Given the description of an element on the screen output the (x, y) to click on. 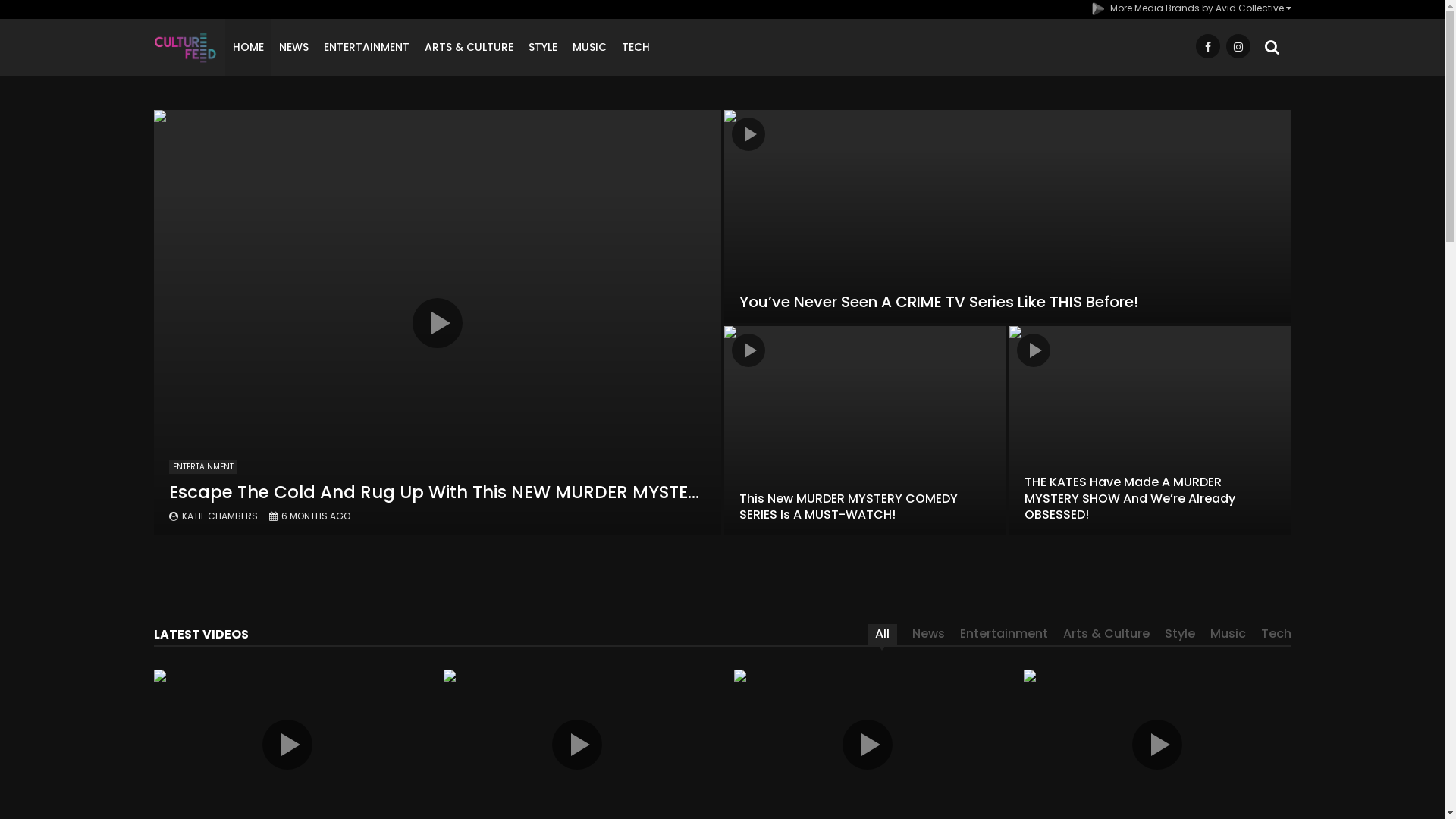
Search Element type: text (1287, 47)
icon Element type: text (1032, 350)
Facebook Element type: hover (1207, 46)
Instagram Element type: hover (1237, 46)
MUSIC Element type: text (589, 46)
icon Element type: text (867, 744)
Search Element type: hover (1271, 46)
STYLE Element type: text (542, 46)
HOME Element type: text (248, 46)
icon Element type: text (287, 744)
Culture Feed Element type: hover (185, 46)
NEWS Element type: text (293, 46)
icon Element type: text (437, 322)
icon Element type: text (1157, 744)
icon Element type: text (577, 744)
ENTERTAINMENT Element type: text (202, 466)
icon Element type: text (747, 350)
ARTS & CULTURE Element type: text (468, 46)
KATIE CHAMBERS Element type: text (219, 515)
TECH Element type: text (635, 46)
icon Element type: text (747, 133)
ENTERTAINMENT Element type: text (366, 46)
